Given the description of an element on the screen output the (x, y) to click on. 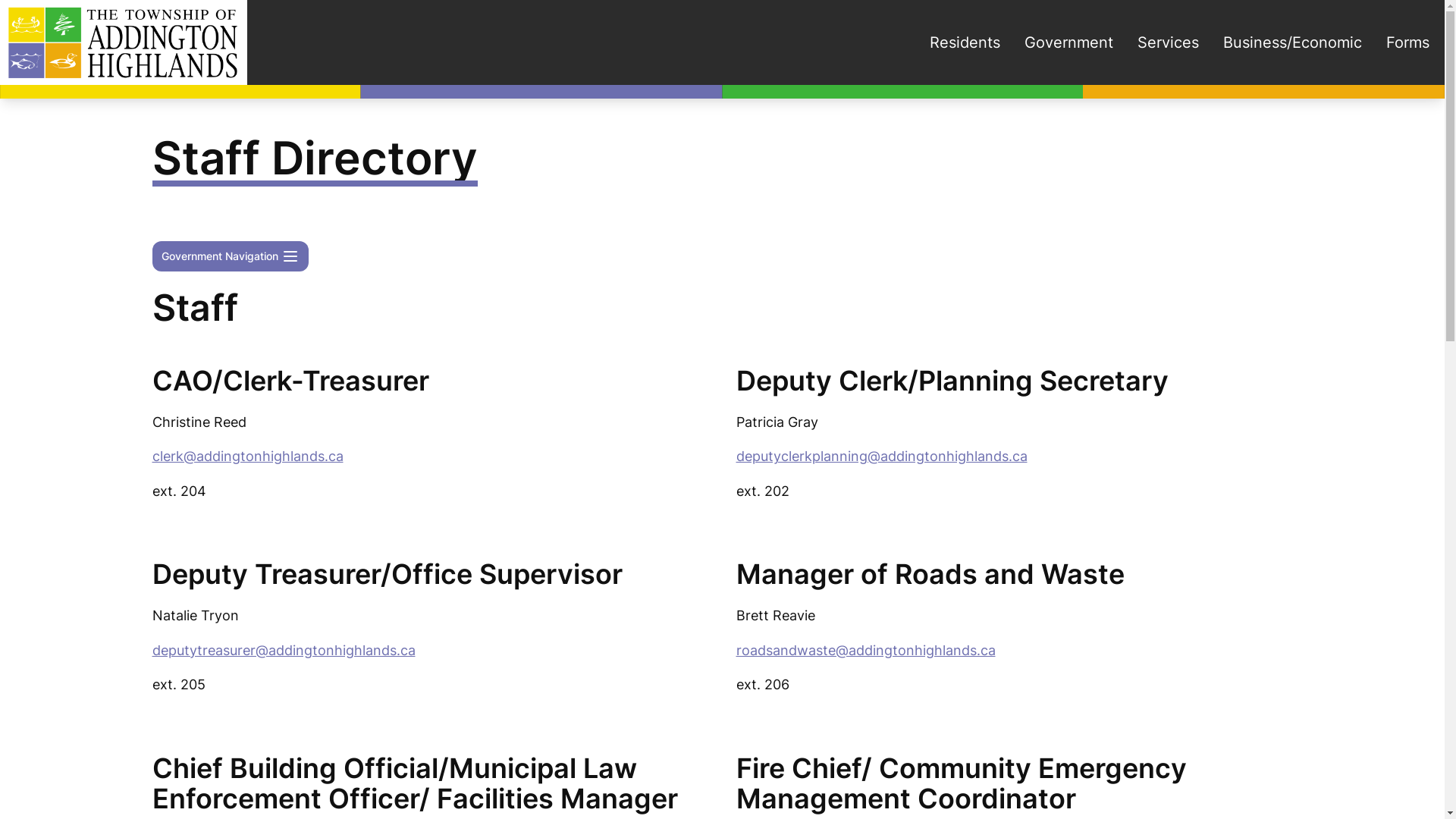
roadsandwaste@addingtonhighlands.ca Element type: text (864, 650)
Open
Government Navigation Element type: text (229, 256)
Forms Element type: text (1407, 42)
Business/Economic Element type: text (1292, 42)
Services Element type: text (1168, 42)
Government Element type: text (1068, 42)
Residents Element type: text (964, 42)
deputytreasurer@addingtonhighlands.ca Element type: text (282, 650)
deputyclerkplanning@addingtonhighlands.ca Element type: text (880, 456)
clerk@addingtonhighlands.ca Element type: text (246, 456)
